Given the description of an element on the screen output the (x, y) to click on. 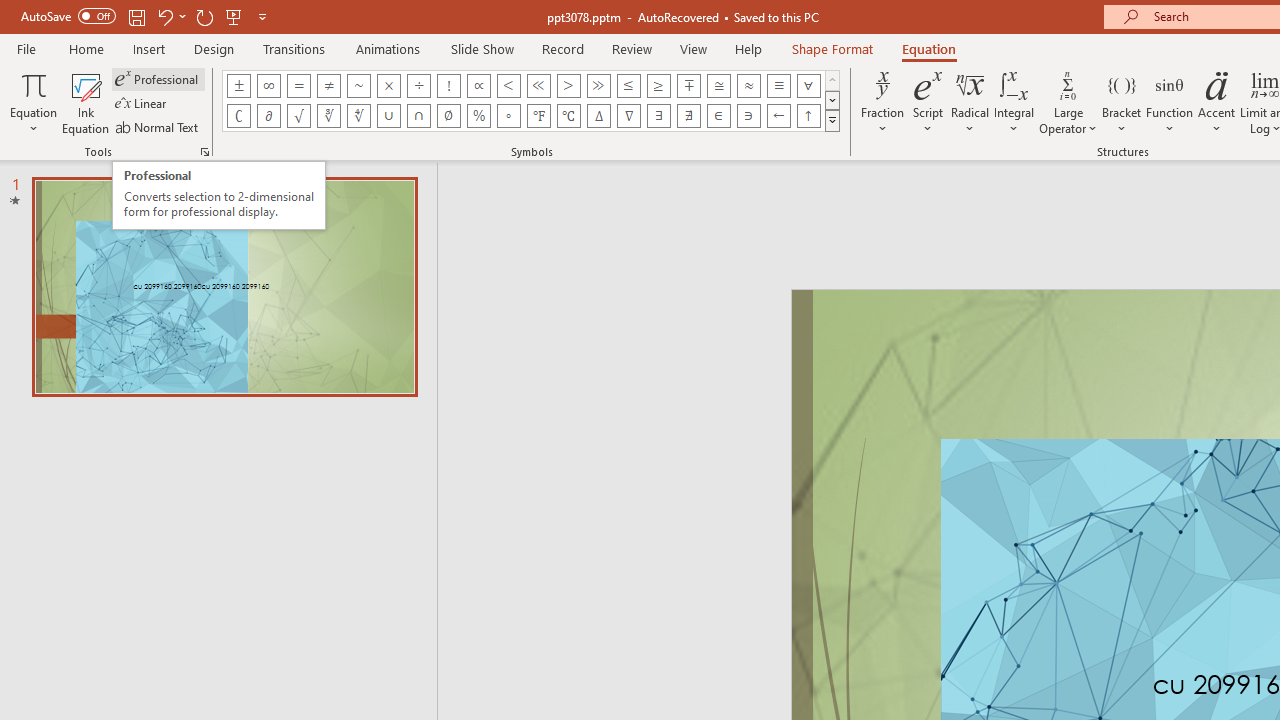
Equation Symbol Radical Sign (298, 115)
Bracket (1121, 102)
Function (1169, 102)
Equation Symbol Contains as Member (748, 115)
Equation Symbol Proportional To (478, 85)
Equation Symbol Infinity (268, 85)
Equation Symbol Identical To (778, 85)
Equation Symbol Intersection (418, 115)
